Given the description of an element on the screen output the (x, y) to click on. 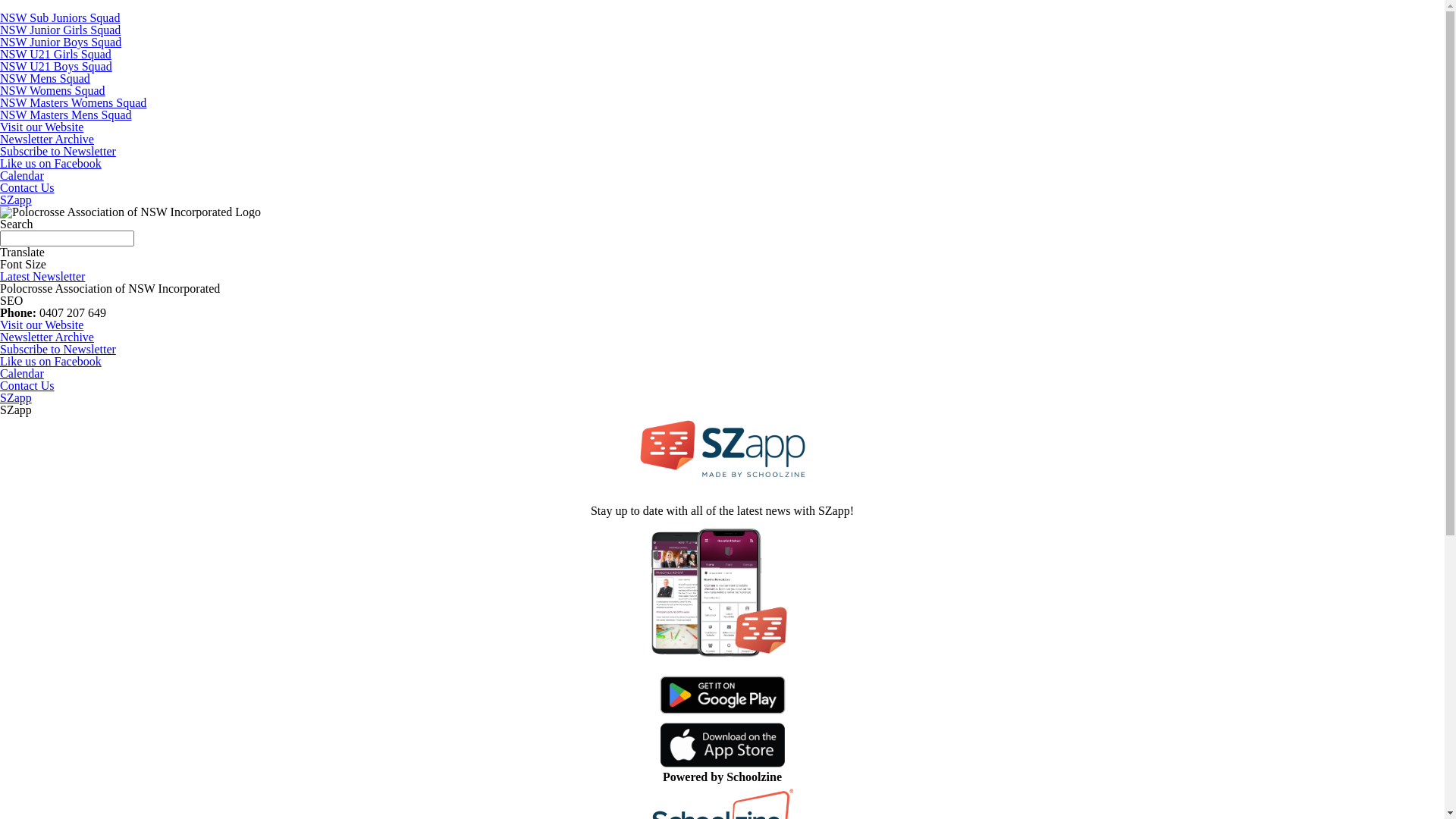
NSW Sub Juniors Squad Element type: text (59, 17)
Visit our Website Element type: text (722, 324)
Like us on Facebook Element type: text (722, 360)
Contact Us Element type: text (722, 385)
NSW U21 Girls Squad Element type: text (55, 53)
Calendar Element type: text (722, 373)
Newsletter Archive Element type: text (47, 138)
NSW Masters Womens Squad Element type: text (73, 102)
Newsletter Archive Element type: text (722, 336)
Calendar Element type: text (21, 175)
NSW Junior Girls Squad Element type: text (60, 29)
Contact Us Element type: text (27, 187)
SZapp Element type: text (15, 199)
SZapp Element type: text (722, 397)
NSW Junior Boys Squad Element type: text (60, 41)
NSW Masters Mens Squad Element type: text (65, 114)
Subscribe to Newsletter Element type: text (722, 348)
Subscribe to Newsletter Element type: text (58, 150)
NSW Mens Squad Element type: text (45, 78)
Latest Newsletter Element type: text (42, 275)
Visit our Website Element type: text (41, 126)
NSW U21 Boys Squad Element type: text (56, 65)
NSW Womens Squad Element type: text (52, 90)
Like us on Facebook Element type: text (50, 162)
